Given the description of an element on the screen output the (x, y) to click on. 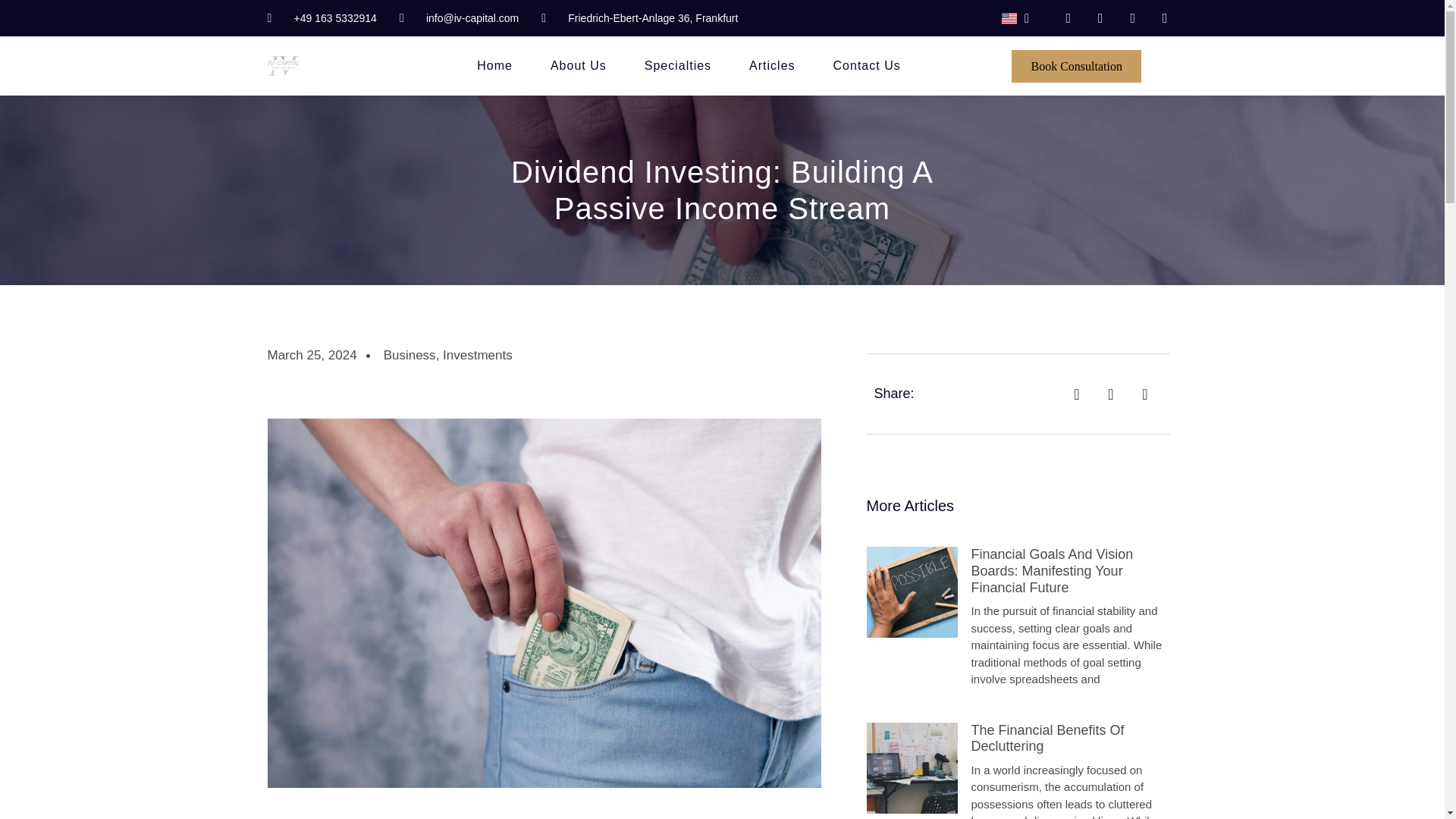
Specialties (678, 65)
Contact Us (866, 65)
Home (494, 65)
About Us (578, 65)
Articles (771, 65)
